Given the description of an element on the screen output the (x, y) to click on. 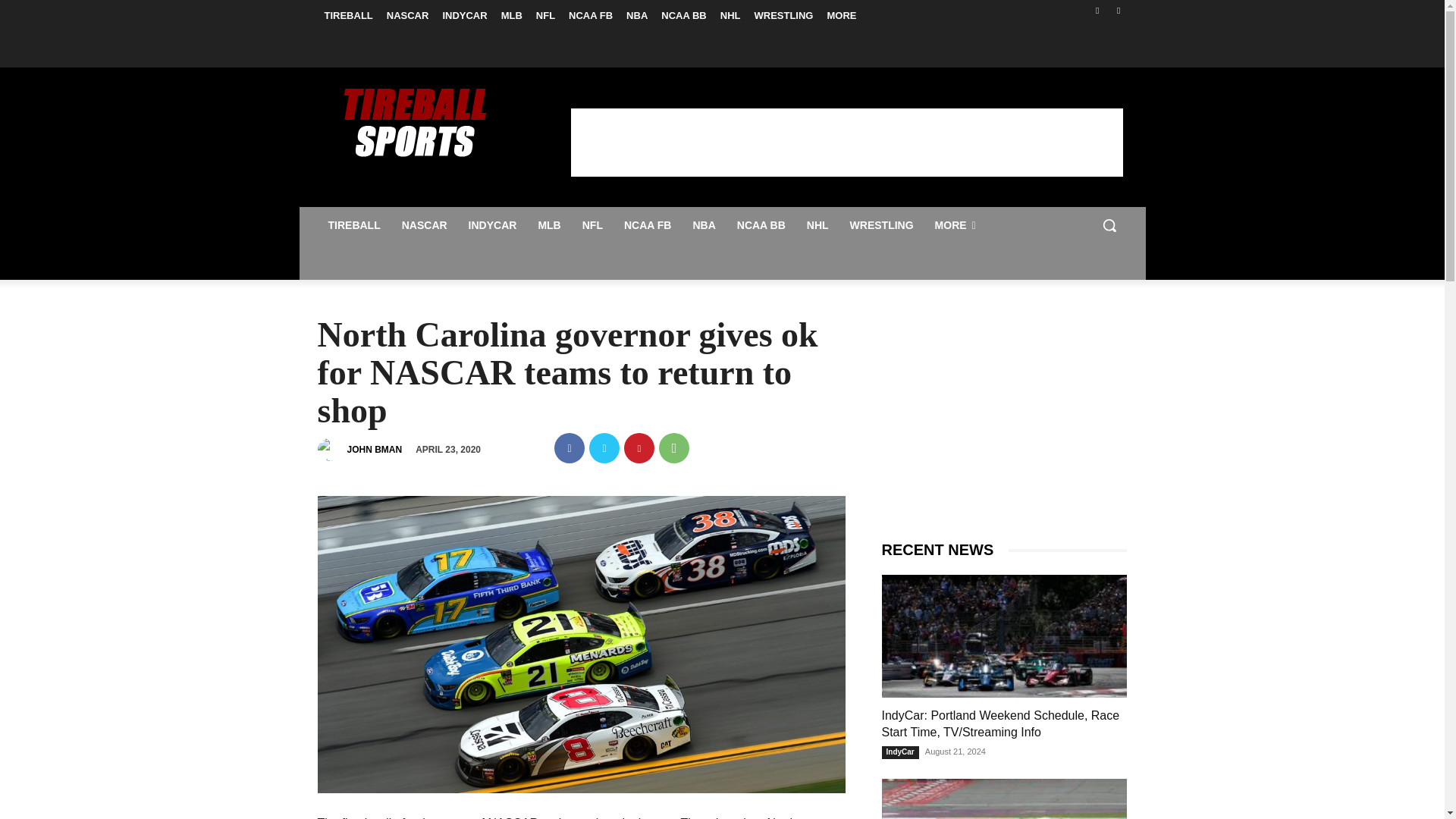
Twitter (1117, 9)
TIREBALL (353, 225)
NCAA FB (591, 15)
John Bman (330, 449)
NFL (592, 225)
MLB (548, 225)
NASCAR (407, 15)
MORE (841, 15)
NFL (545, 15)
WRESTLING (782, 15)
